Given the description of an element on the screen output the (x, y) to click on. 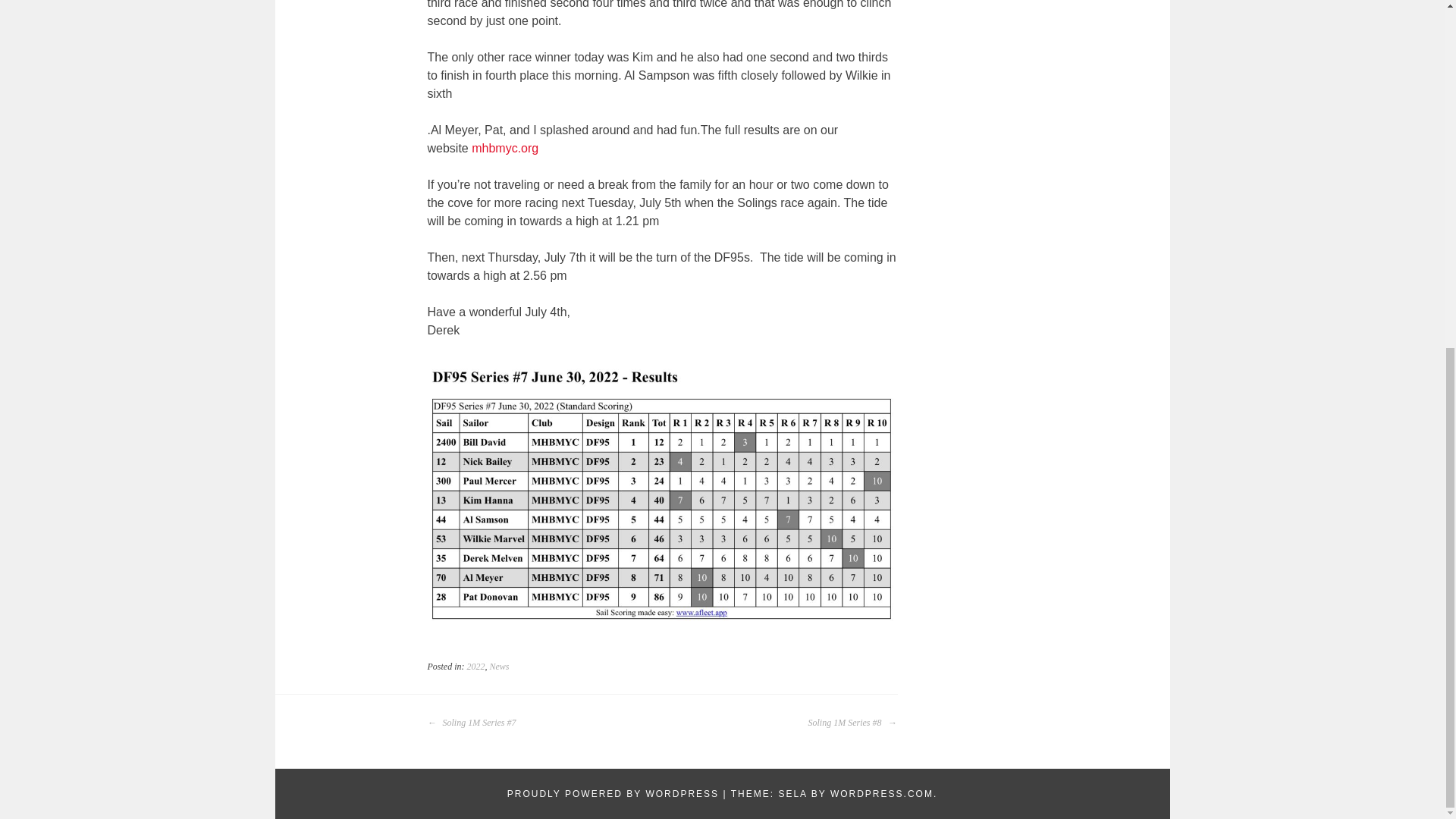
A Semantic Personal Publishing Platform (612, 793)
mhbmyc.org (504, 147)
WORDPRESS.COM (881, 793)
2022 (475, 665)
News (499, 665)
PROUDLY POWERED BY WORDPRESS (612, 793)
